Given the description of an element on the screen output the (x, y) to click on. 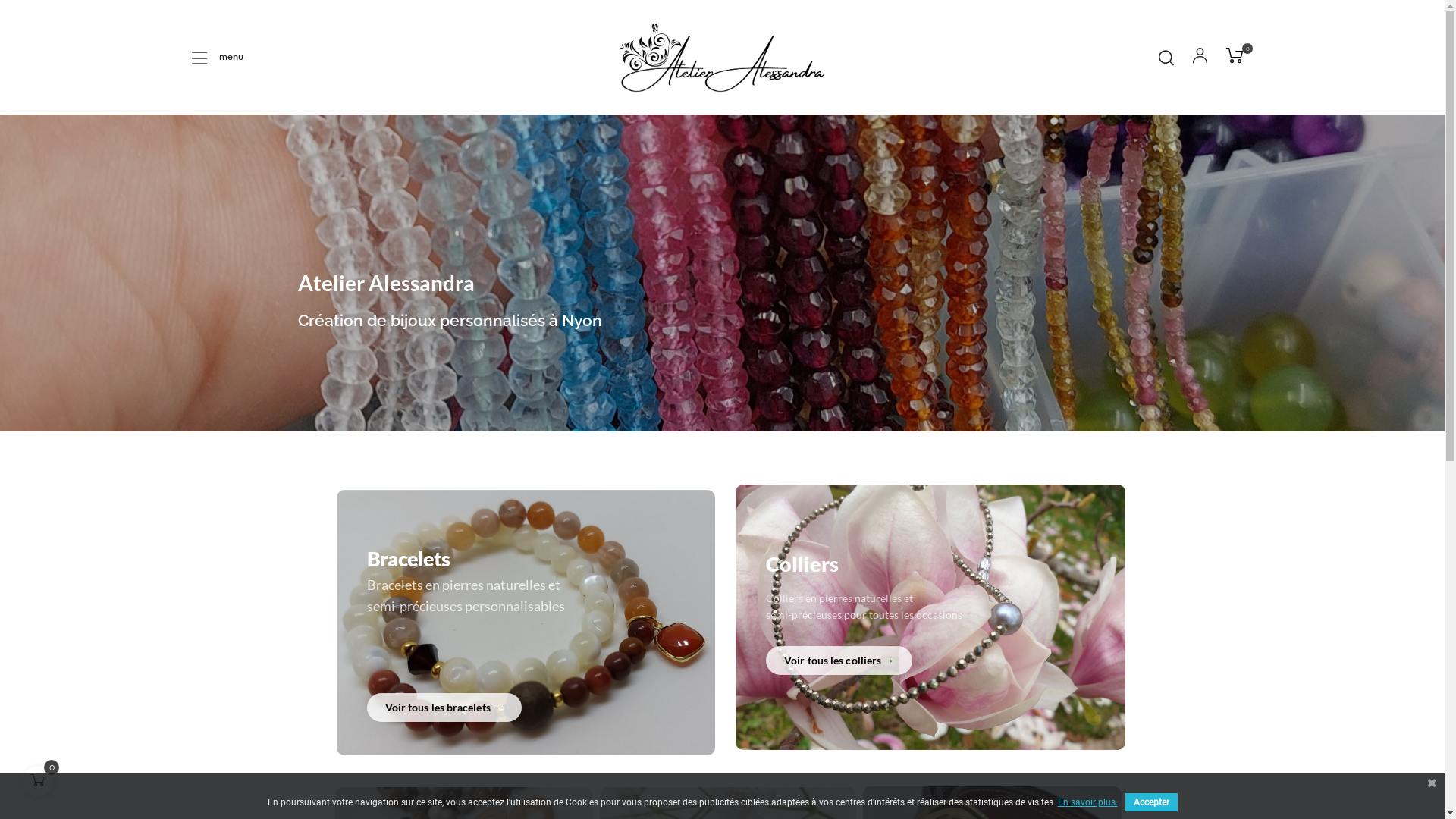
En savoir plus. Element type: text (1087, 801)
Accepter Element type: text (1151, 802)
